Given the description of an element on the screen output the (x, y) to click on. 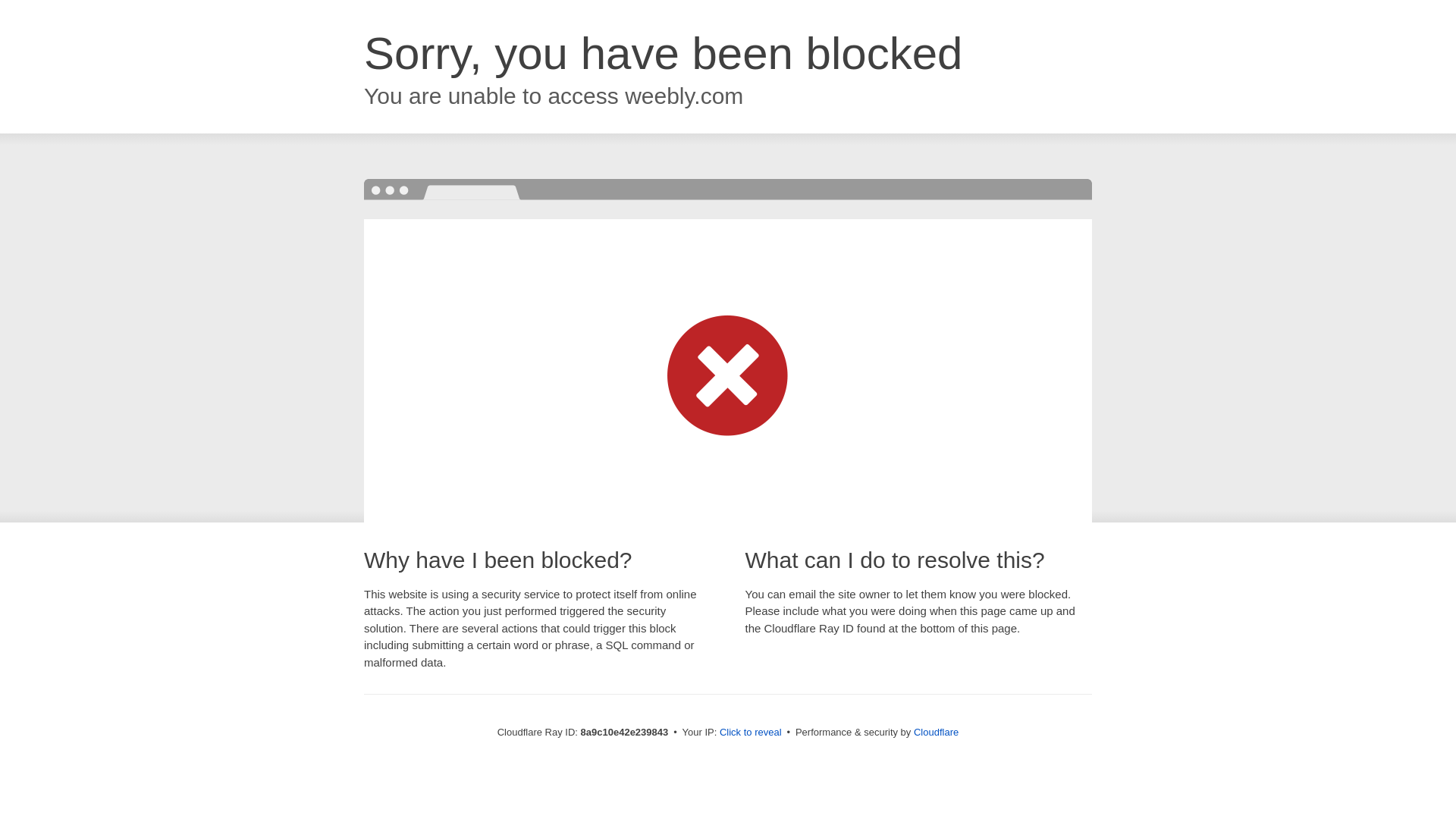
Click to reveal (750, 732)
Cloudflare (936, 731)
